Given the description of an element on the screen output the (x, y) to click on. 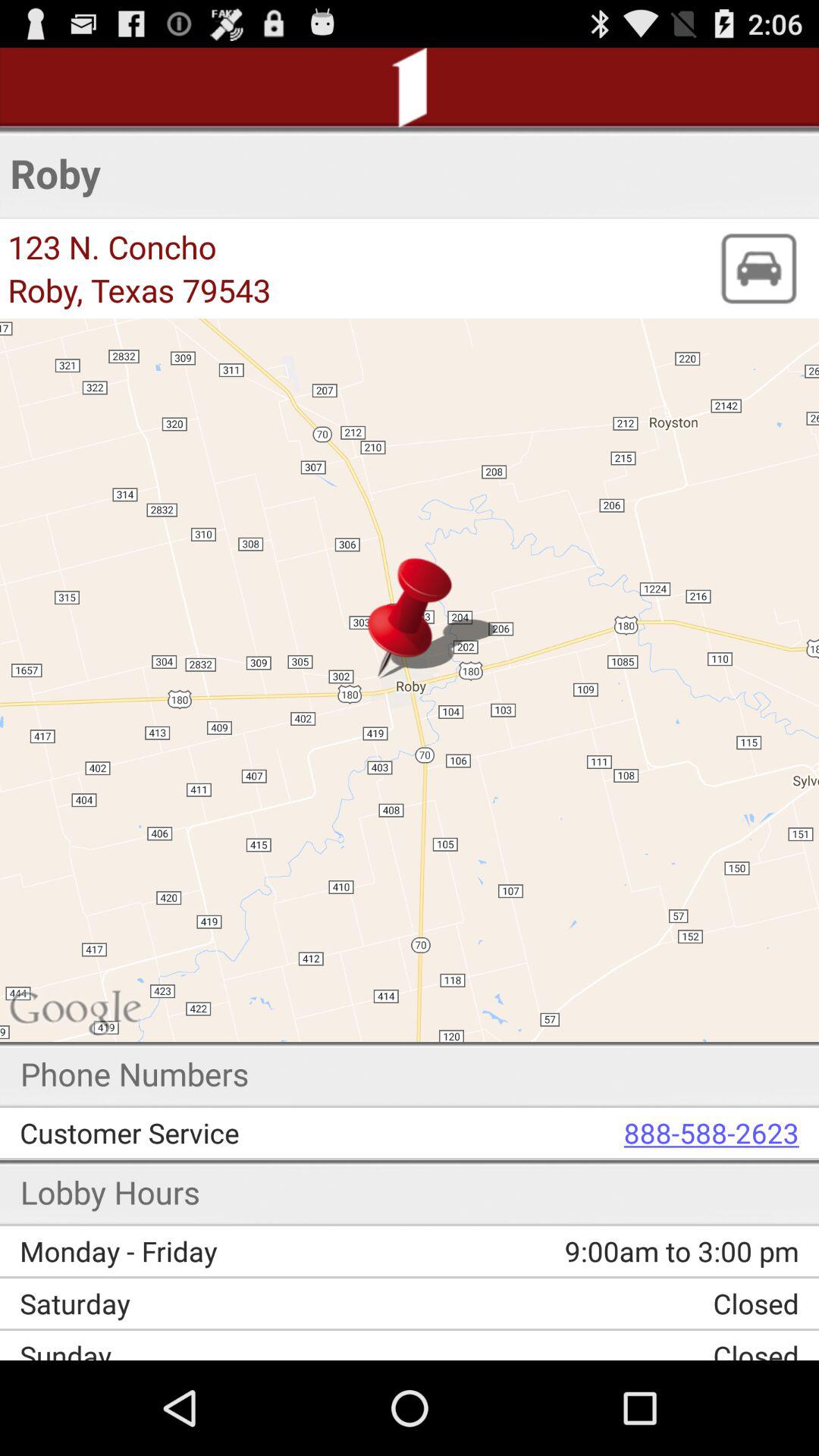
open item next to closed app (215, 1348)
